Given the description of an element on the screen output the (x, y) to click on. 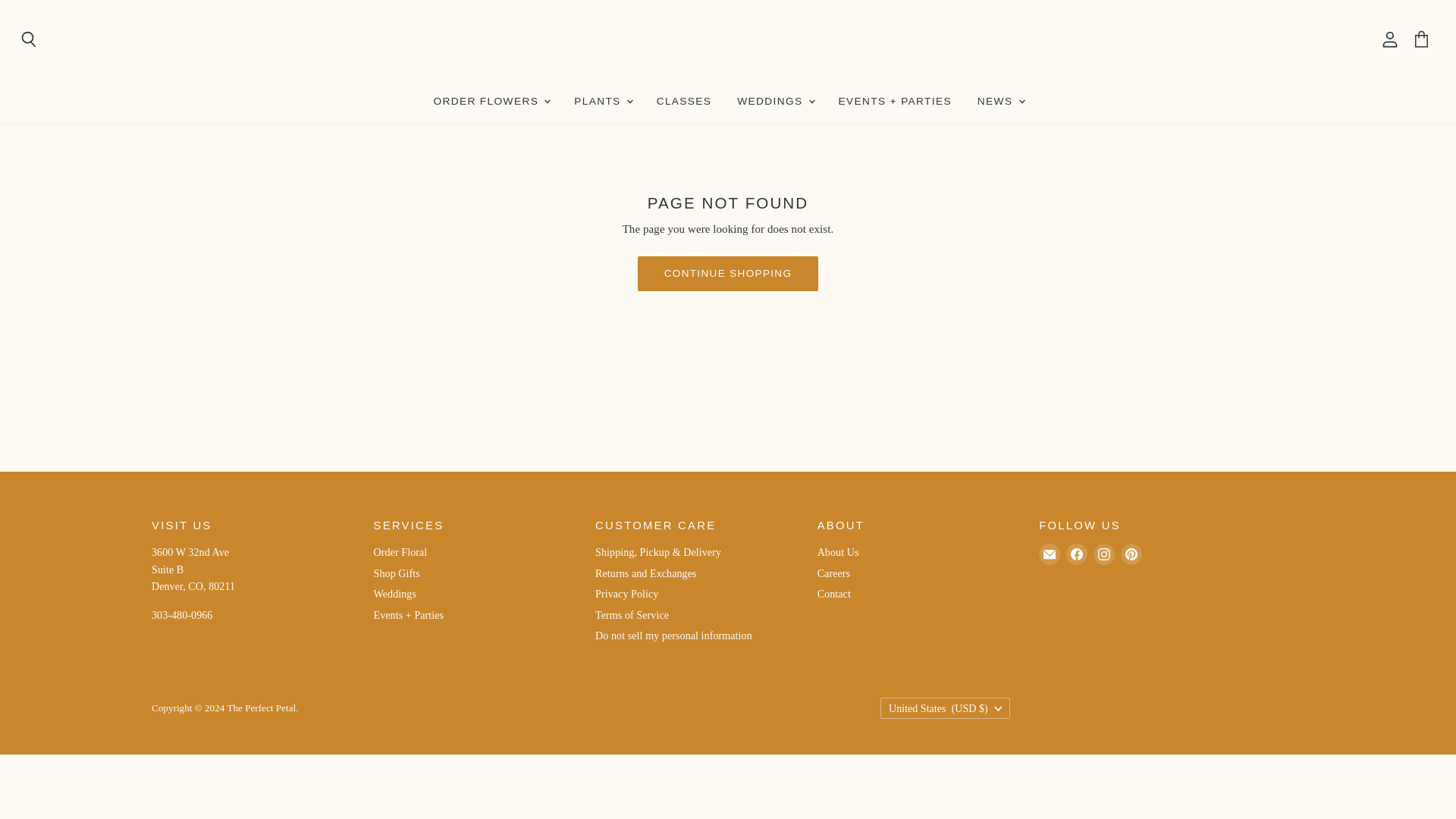
NEWS (999, 101)
CLASSES (684, 101)
Pinterest (1131, 554)
PLANTS (602, 101)
View account (1389, 39)
Facebook (1076, 554)
Search (28, 39)
WEDDINGS (774, 101)
ORDER FLOWERS (490, 101)
E-mail (1048, 554)
